Given the description of an element on the screen output the (x, y) to click on. 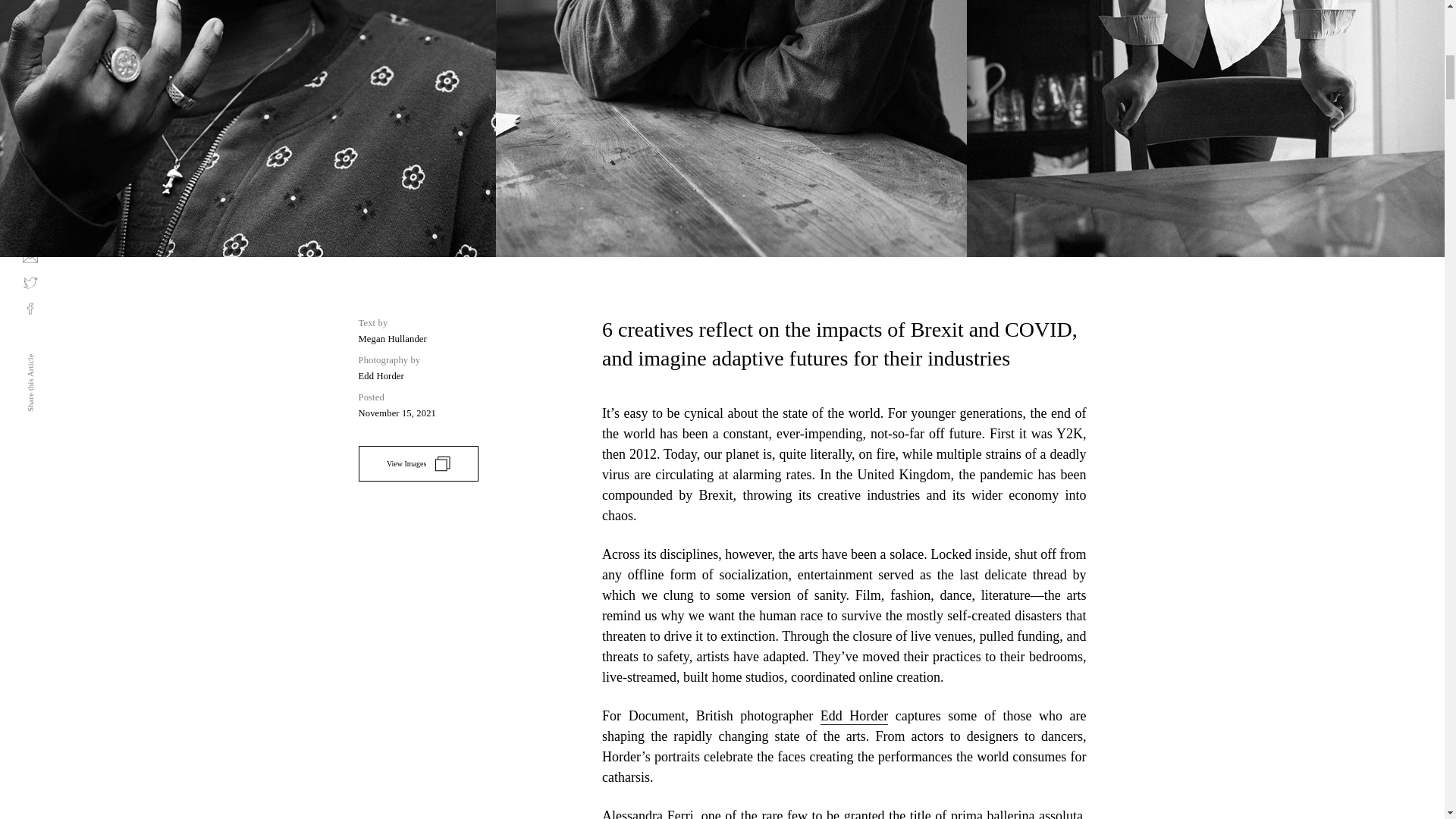
Posts by Megan Hullander (392, 338)
